Given the description of an element on the screen output the (x, y) to click on. 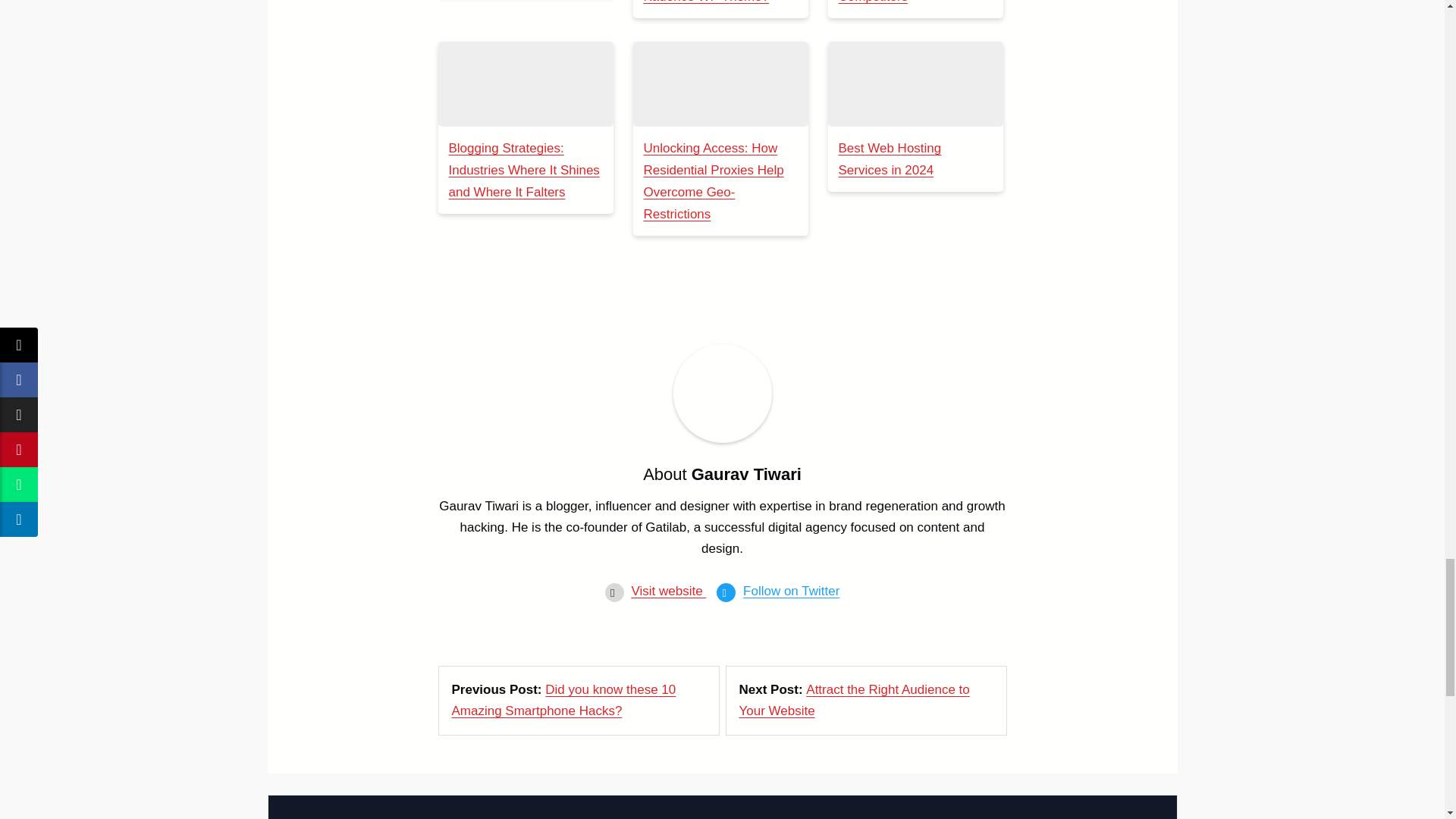
7 Best Kadence Theme Alternatives and Competitors (905, 2)
Best Web Hosting Services in 2024 (890, 158)
Follow on Twitter (791, 590)
Did you know these 10 Amazing Smartphone Hacks? (564, 700)
Attract the Right Audience to Your Website (853, 700)
Visit website (668, 590)
Best Web Hosting Services in 2024 (915, 83)
How to use Kadence Element Hooks in Kadence WP Theme? (705, 2)
